Given the description of an element on the screen output the (x, y) to click on. 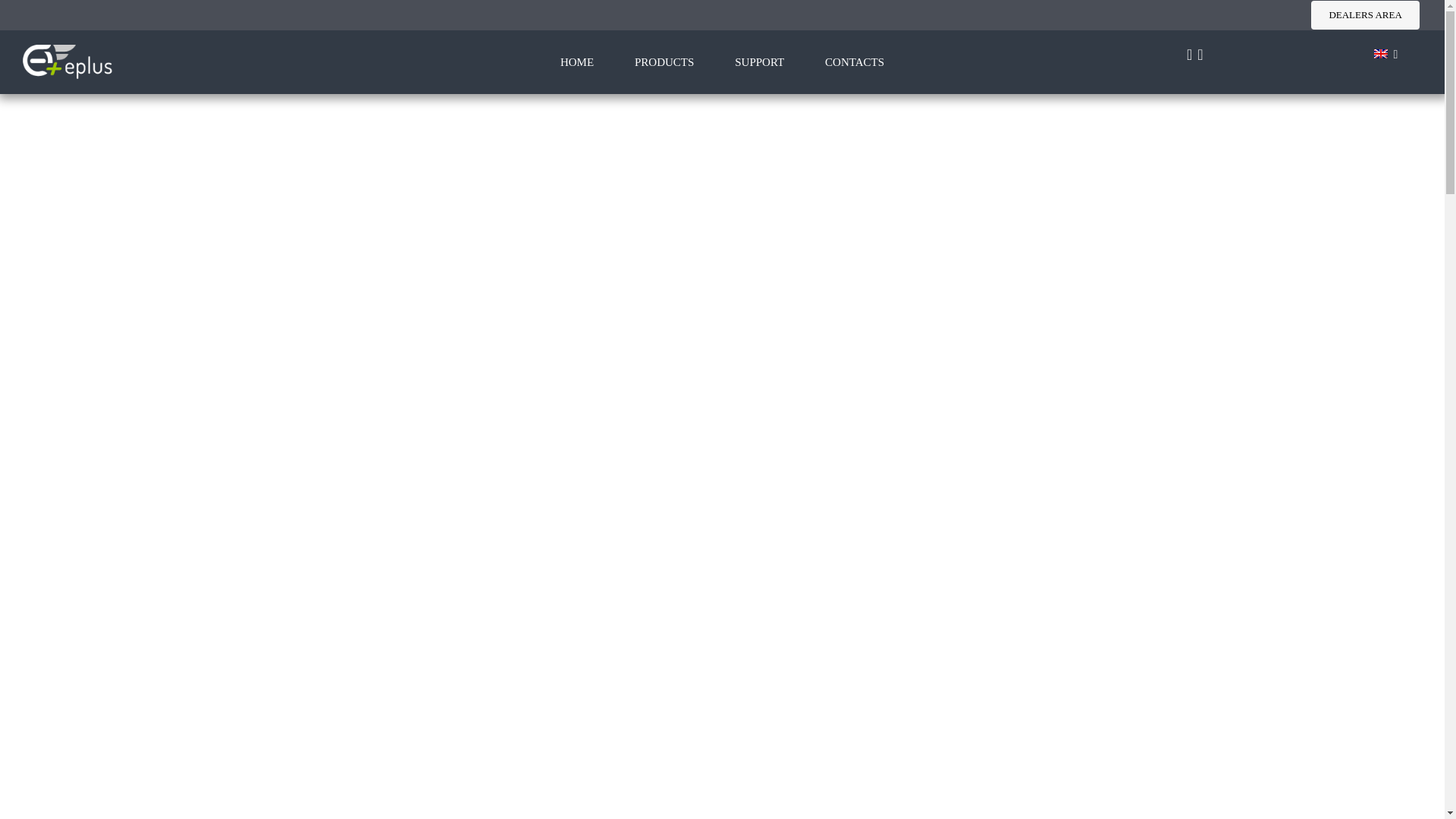
CONTACTS (854, 62)
DEALERS AREA (1364, 14)
PRODUCTS (664, 62)
SUPPORT (759, 62)
Log In (1354, 228)
